Given the description of an element on the screen output the (x, y) to click on. 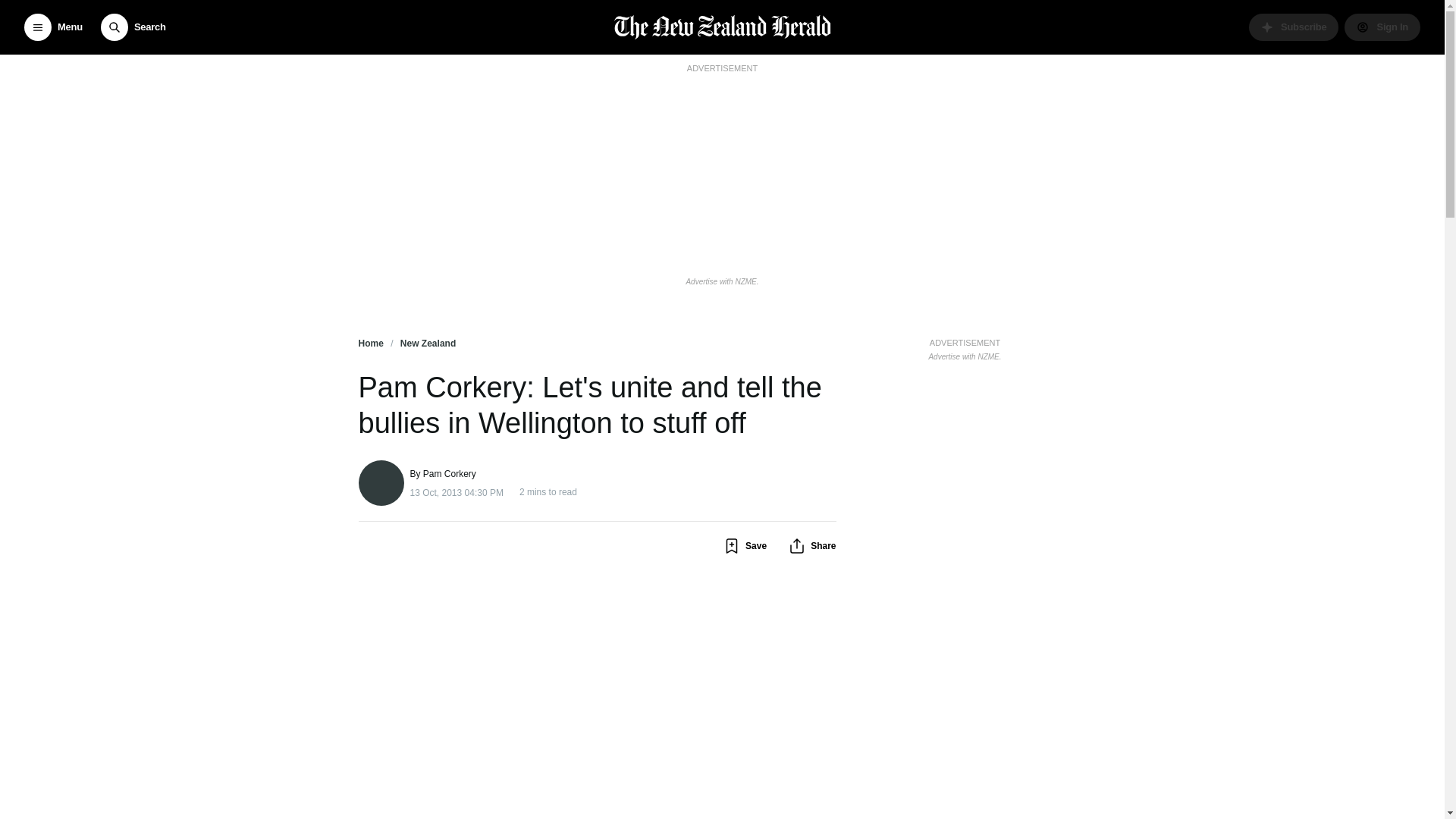
Manage your account (1382, 26)
Search (132, 26)
Subscribe (1294, 26)
Sign In (1382, 26)
Menu (53, 26)
